Given the description of an element on the screen output the (x, y) to click on. 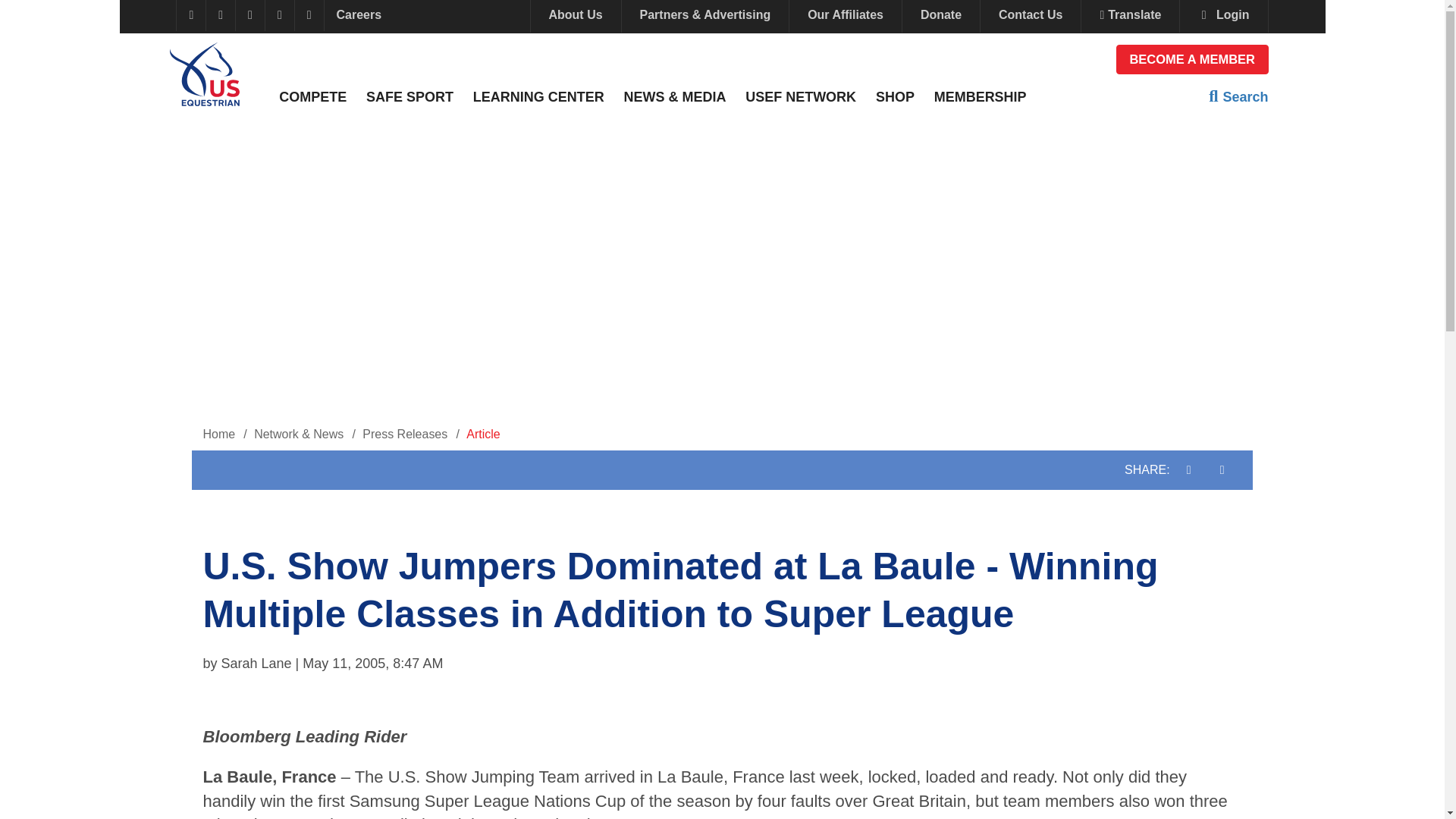
US Equestrian (205, 72)
SHOP (895, 96)
MEMBERSHIP (980, 96)
USEF NETWORK (800, 96)
Search (1238, 95)
Share on Twitter (1222, 469)
LEARNING CENTER (538, 96)
Share on Facebook (1189, 469)
BECOME A MEMBER (1192, 59)
SAFE SPORT (409, 96)
COMPETE (312, 96)
